Given the description of an element on the screen output the (x, y) to click on. 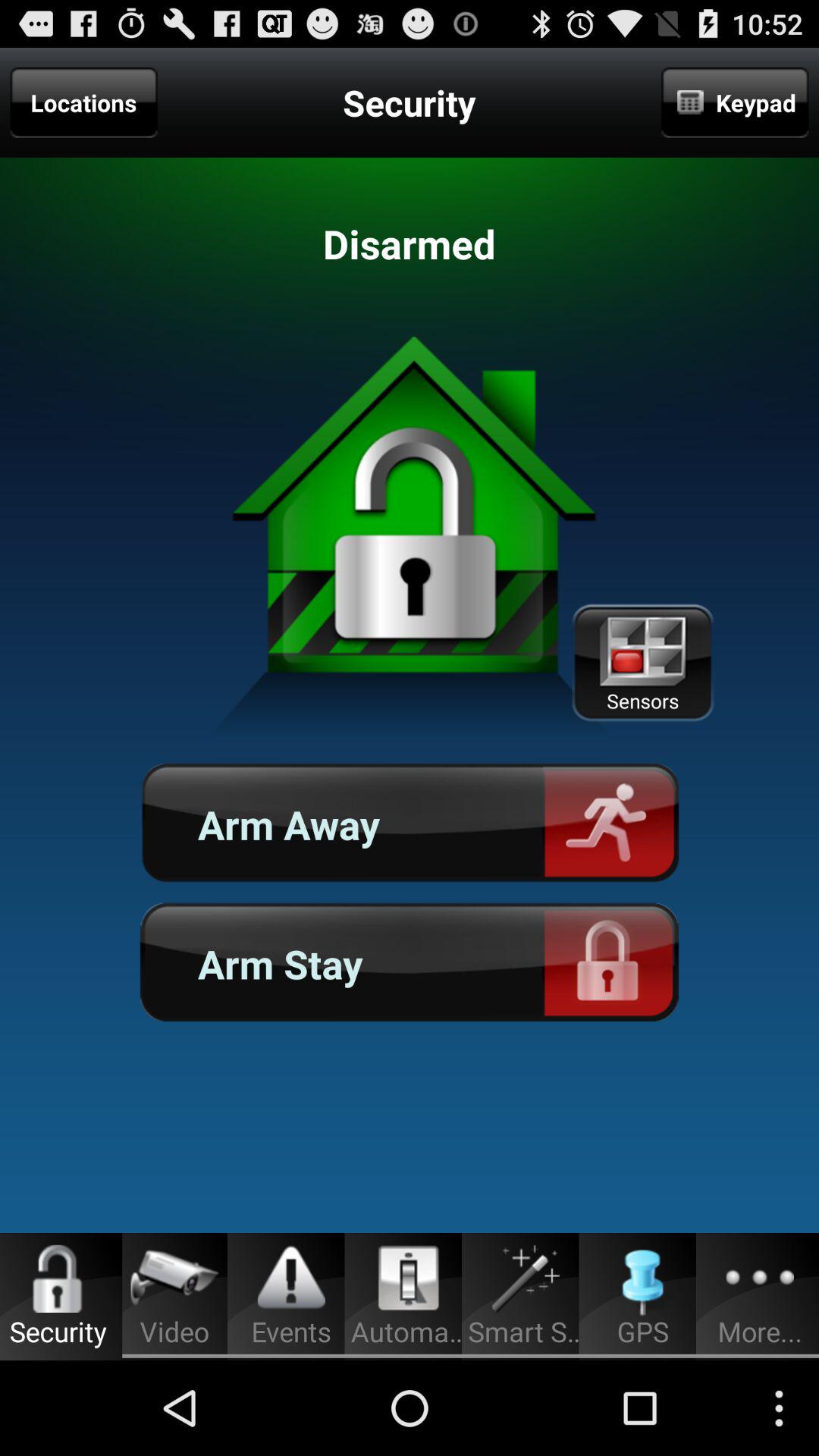
turn off icon above arm away button (642, 662)
